Given the description of an element on the screen output the (x, y) to click on. 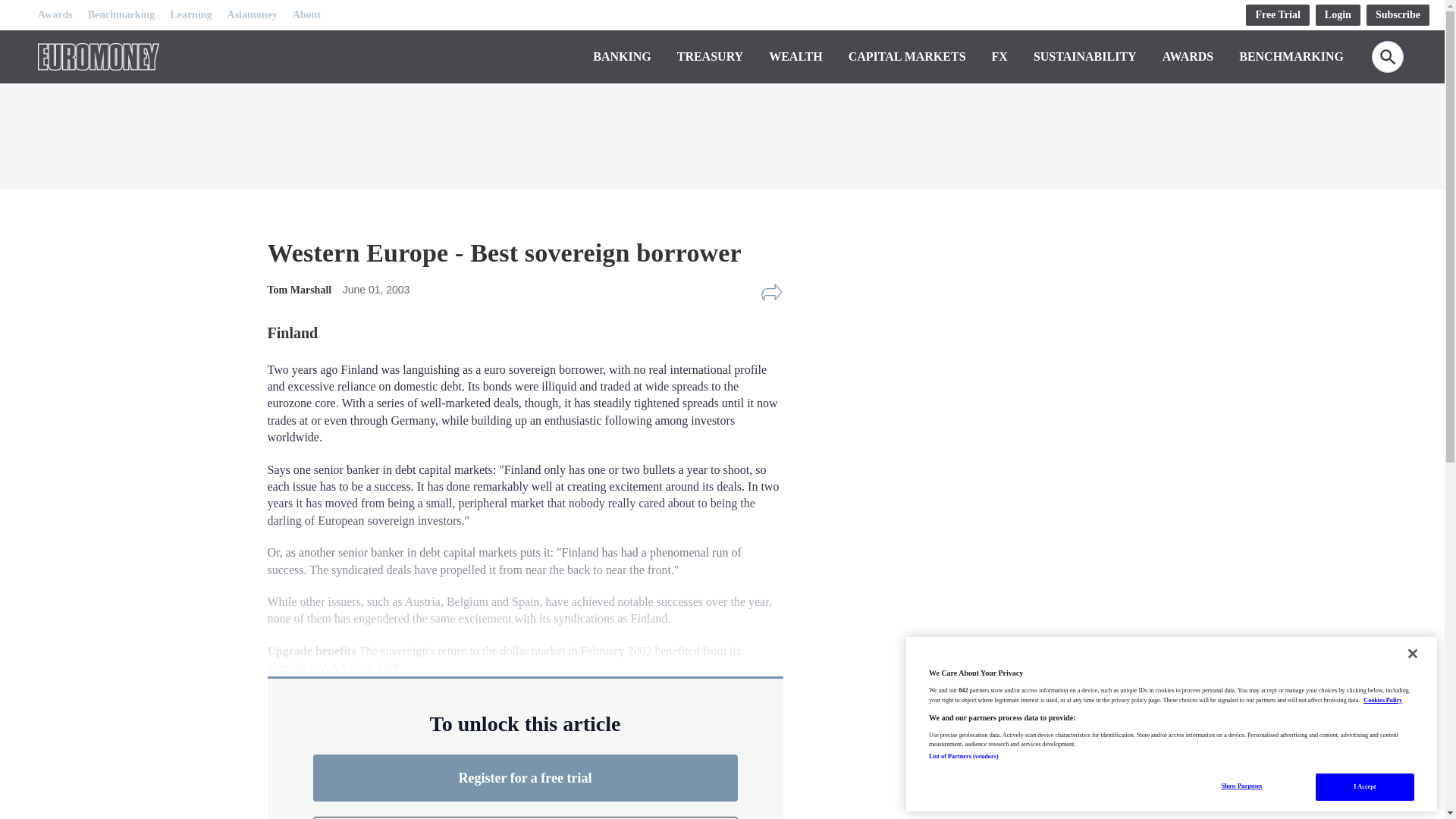
Subscribe (1398, 14)
Free Trial (1277, 14)
FX (999, 56)
BANKING (621, 56)
TREASURY (709, 56)
AWARDS (1187, 56)
3rd party ad content (721, 132)
Share (771, 292)
Login (1337, 14)
WEALTH (795, 56)
BENCHMARKING (1291, 56)
3rd party ad content (979, 549)
SUSTAINABILITY (1085, 56)
Asiamoney (252, 14)
Show Search (1387, 56)
